Given the description of an element on the screen output the (x, y) to click on. 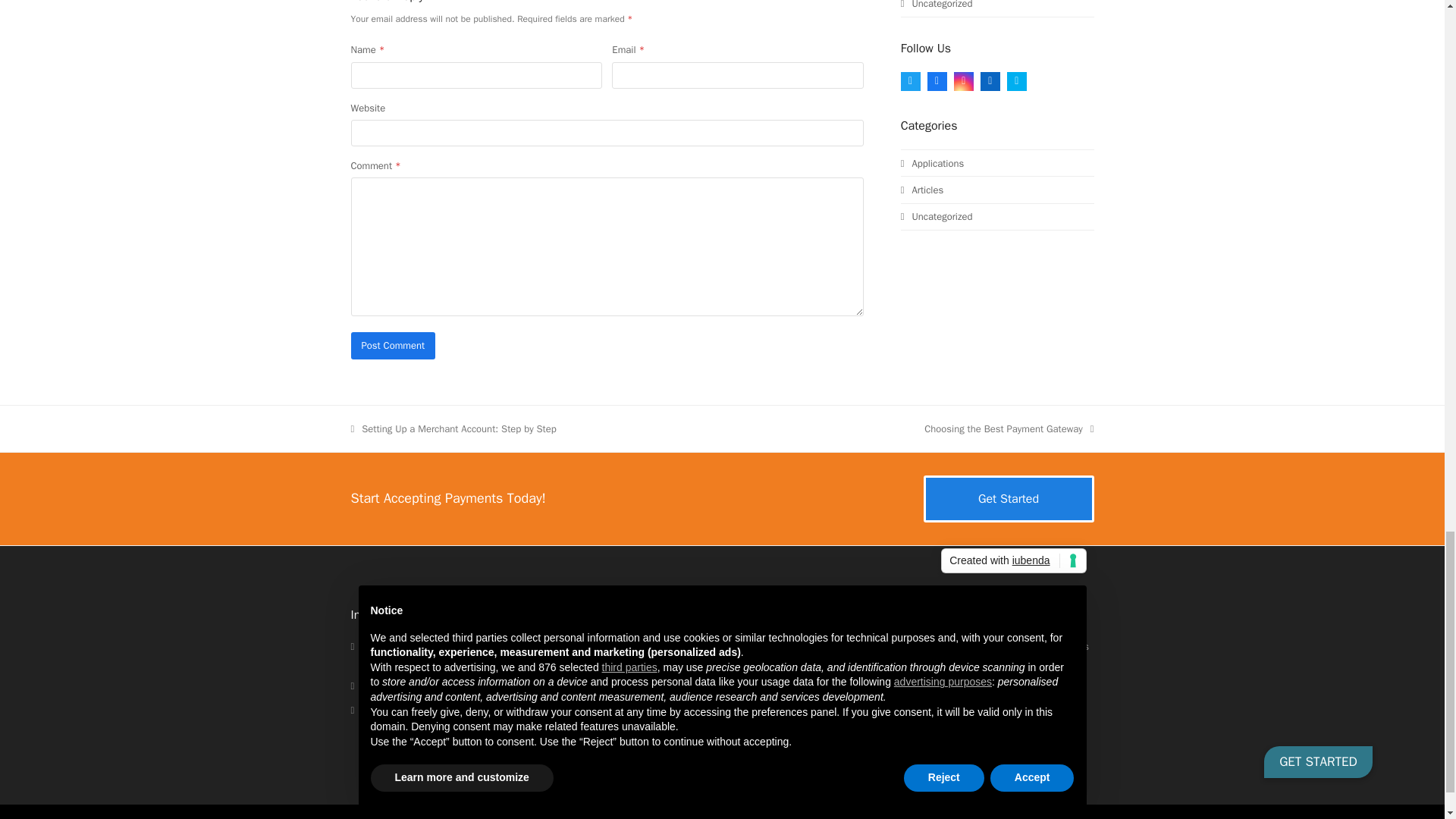
Twitter (876, 700)
LinkedIn (987, 700)
Instagram (963, 80)
Facebook (937, 80)
Twitter (910, 80)
Instagram (951, 700)
Skype (1016, 80)
Post Comment (392, 345)
LinkedIn (989, 80)
Facebook (913, 700)
